Given the description of an element on the screen output the (x, y) to click on. 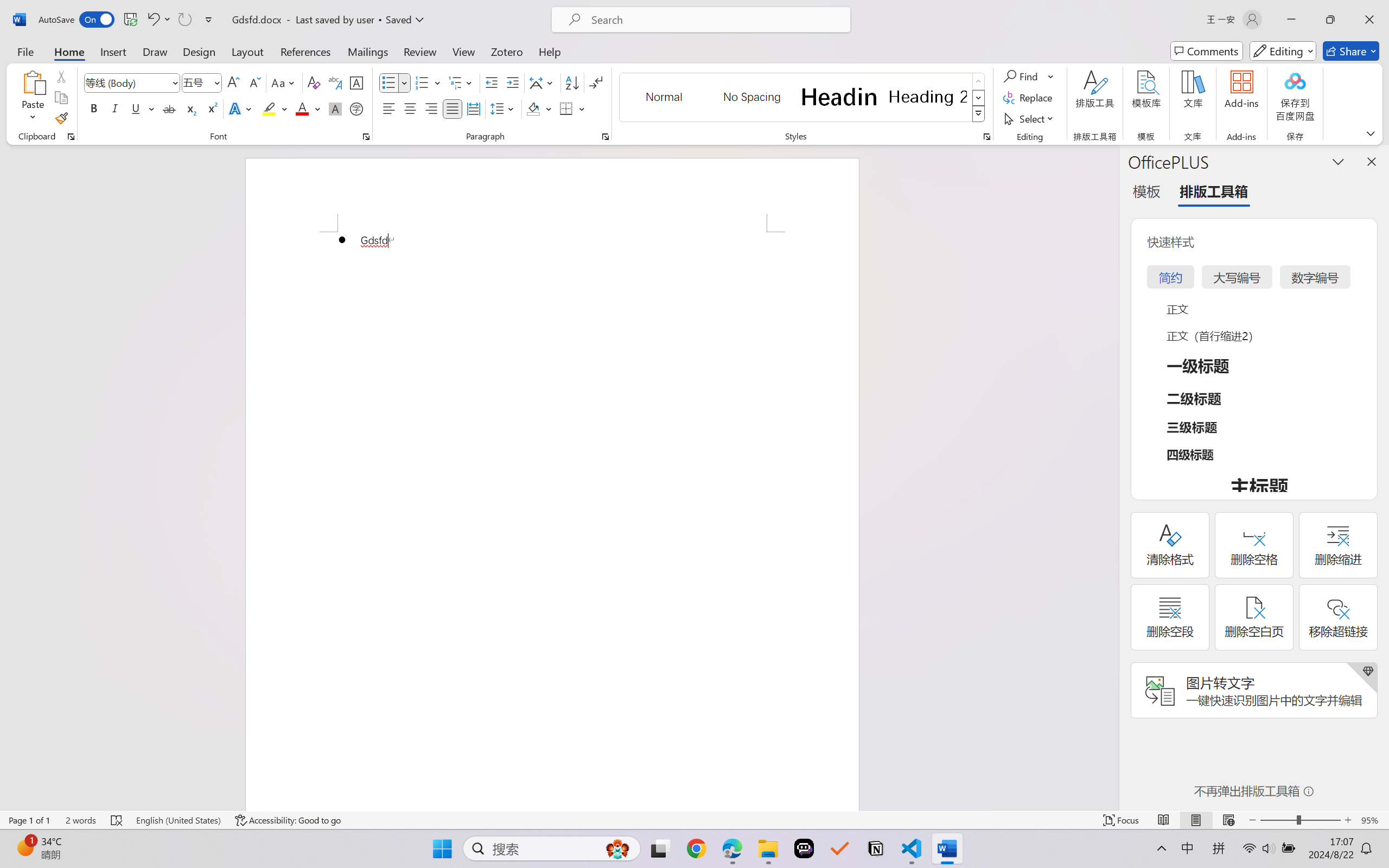
Spelling and Grammar Check Errors (117, 819)
